Given the description of an element on the screen output the (x, y) to click on. 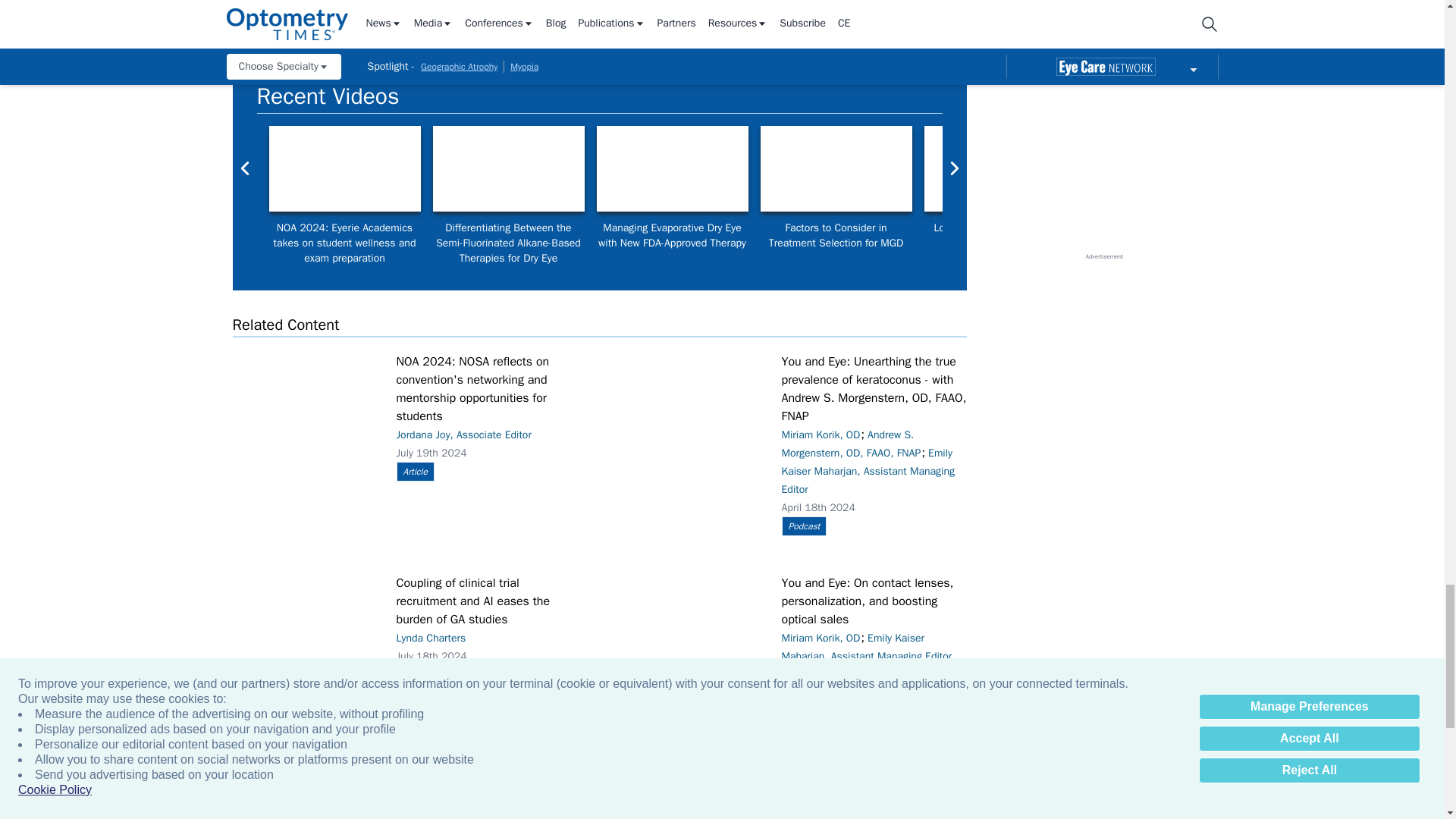
Selina McGee, OD, FAAO, and Jessilin Quint, OD, MBA, FAAO (507, 168)
Selina McGee, OD, FAAO, and Jessilin Quint, OD, MBA, FAAO (671, 168)
Selina McGee, OD, FAAO, and Jessilin Quint, OD, MBA, FAAO (999, 168)
Selina McGee, OD, FAAO, and Jessilin Quint, OD, MBA, FAAO (835, 168)
